Given the description of an element on the screen output the (x, y) to click on. 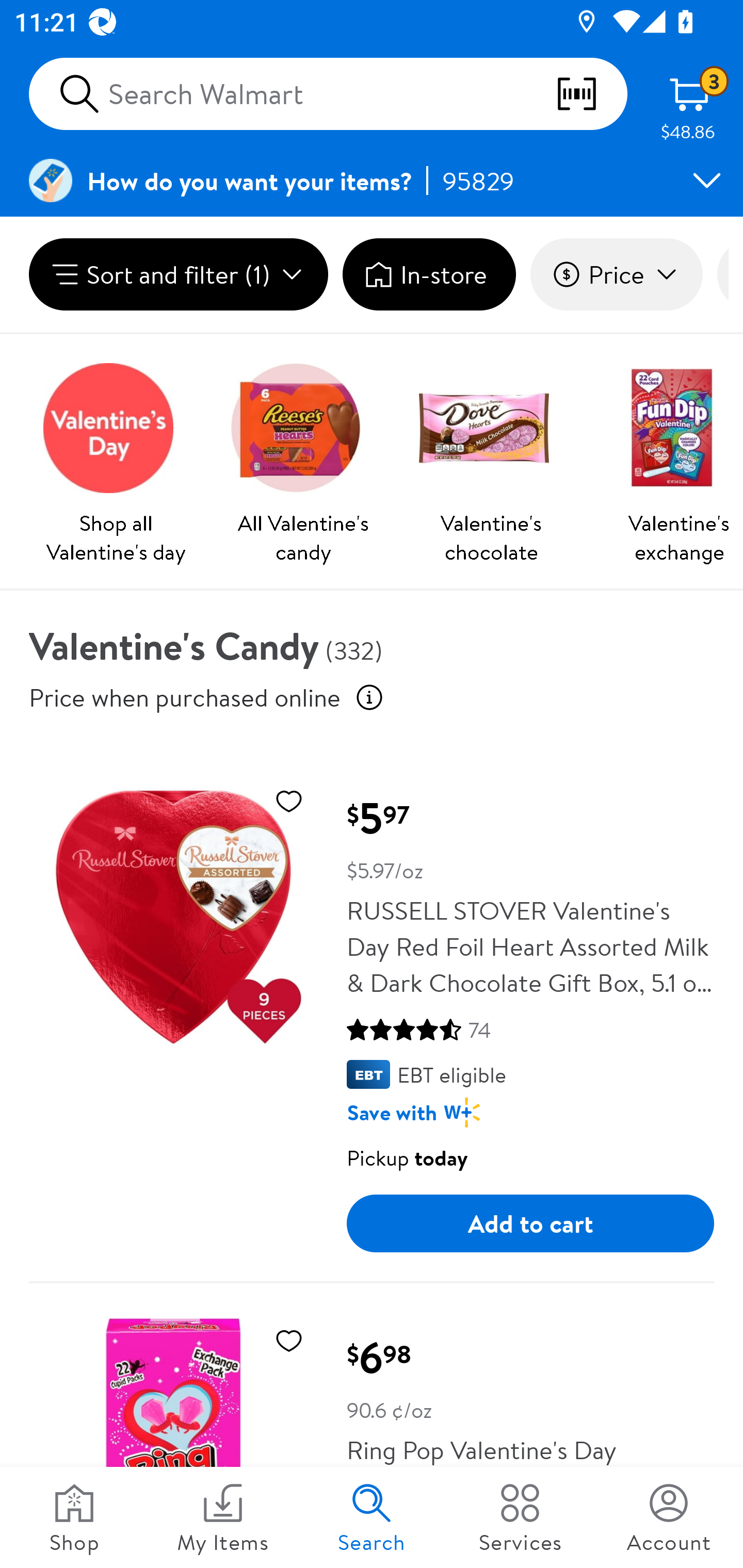
Search Walmart scan barcodes qr codes and more (327, 94)
scan barcodes qr codes and more (591, 94)
Filter by In-store, applied,  Filter icon In-store (428, 274)
Price when purchased online (184, 696)
Price when purchased online (369, 697)
Add to cart (530, 1223)
Shop (74, 1517)
My Items (222, 1517)
Services (519, 1517)
Account (668, 1517)
